Given the description of an element on the screen output the (x, y) to click on. 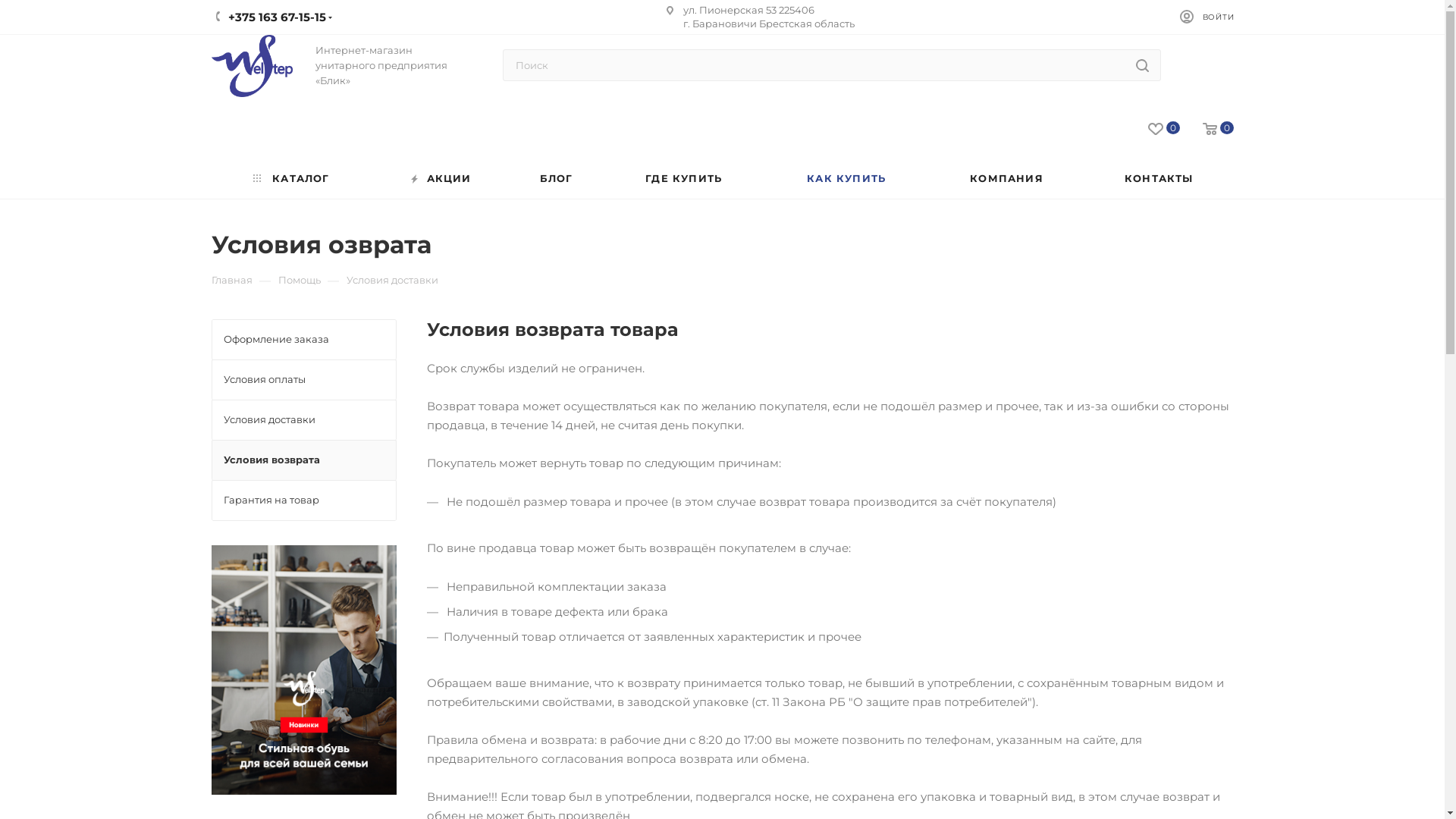
0 Element type: text (1206, 128)
0 Element type: text (1152, 128)
